Given the description of an element on the screen output the (x, y) to click on. 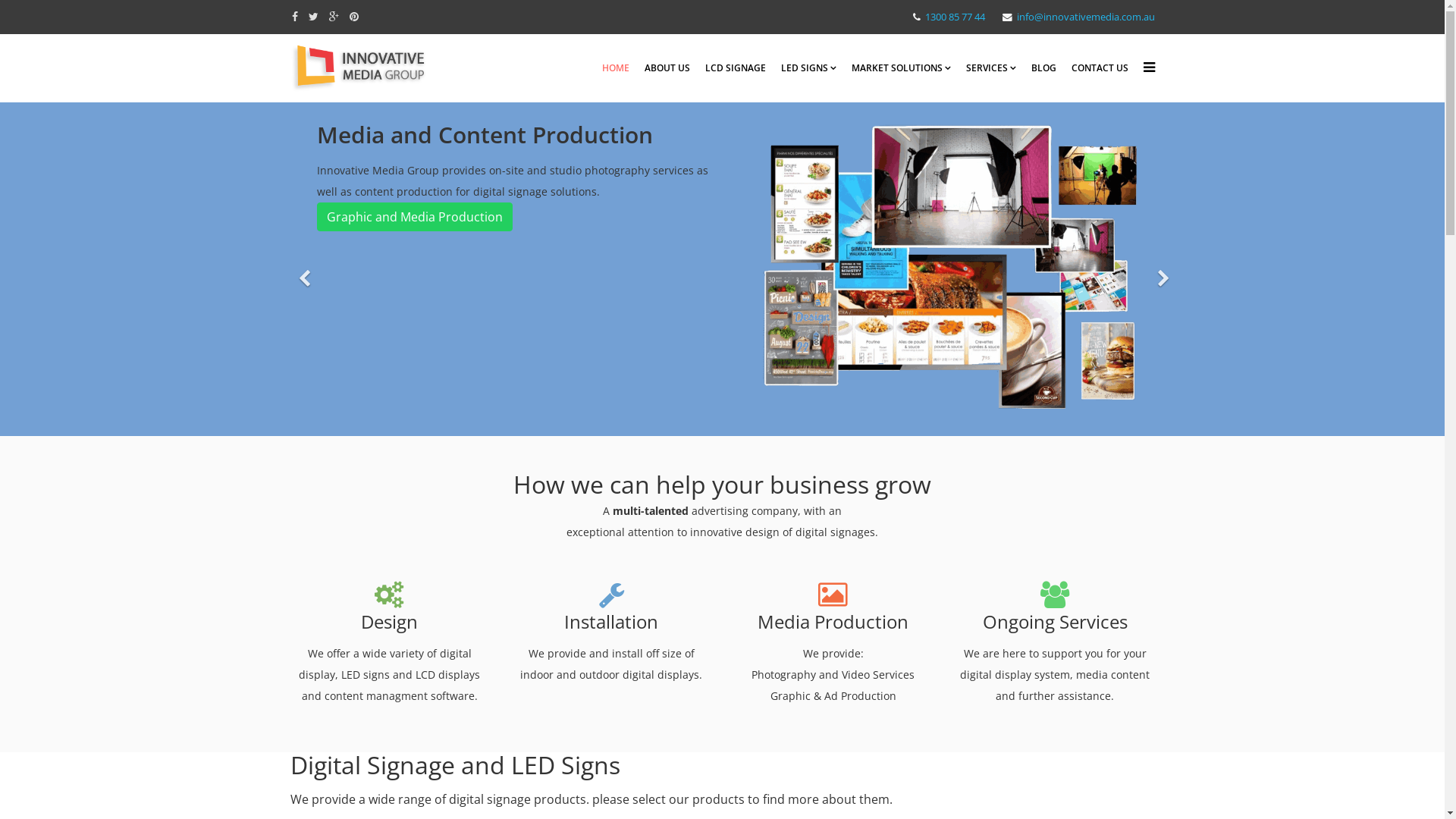
CONTACT US Element type: text (1099, 68)
HOME Element type: text (615, 68)
SERVICES Element type: text (990, 68)
Graphic and Media Production Element type: text (414, 216)
1300 85 77 44 Element type: text (955, 16)
LED SIGNS Element type: text (808, 68)
MARKET SOLUTIONS Element type: text (900, 68)
BLOG Element type: text (1043, 68)
ABOUT US Element type: text (667, 68)
LCD SIGNAGE Element type: text (735, 68)
